Given the description of an element on the screen output the (x, y) to click on. 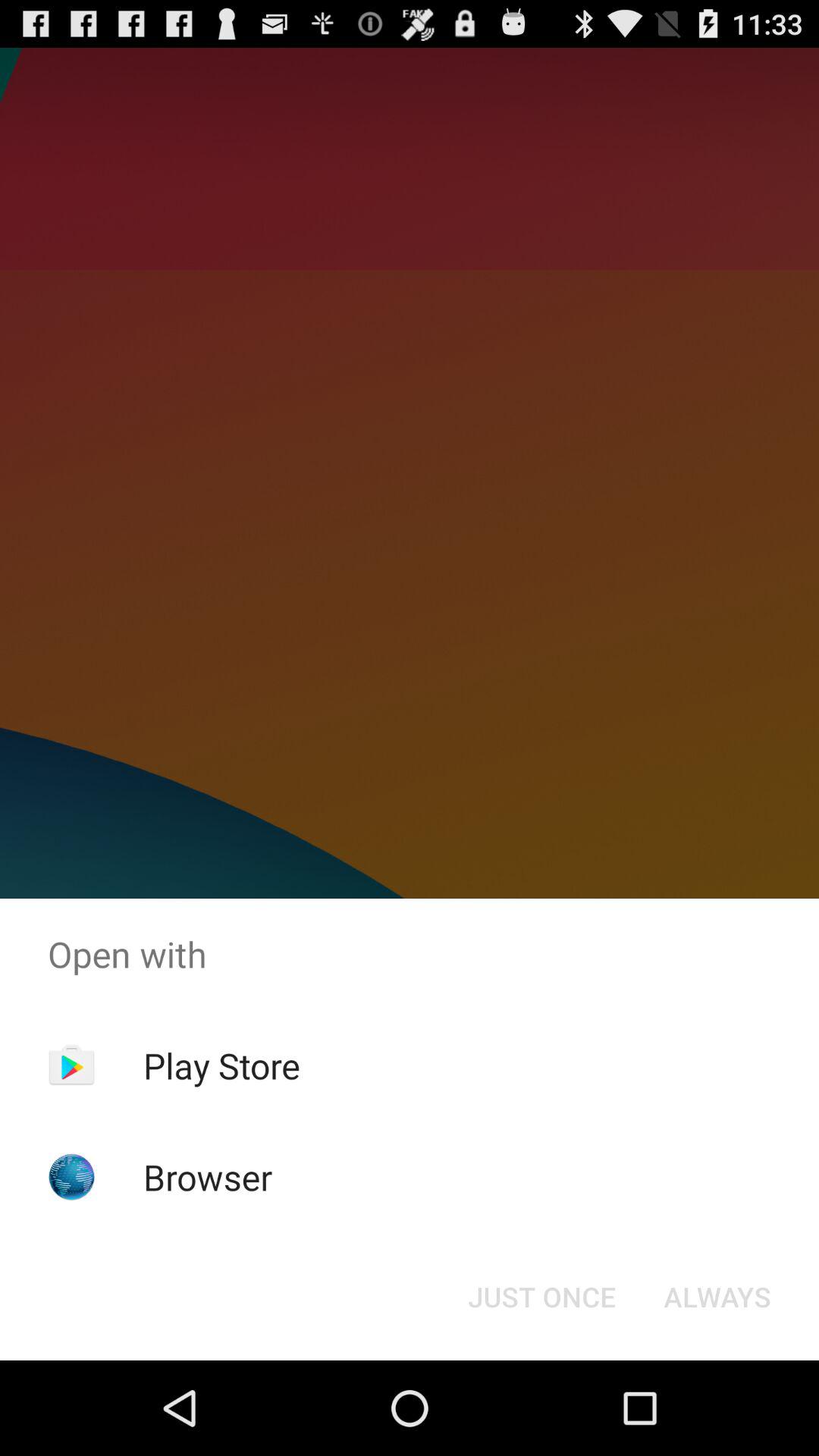
launch the item below open with icon (541, 1296)
